Given the description of an element on the screen output the (x, y) to click on. 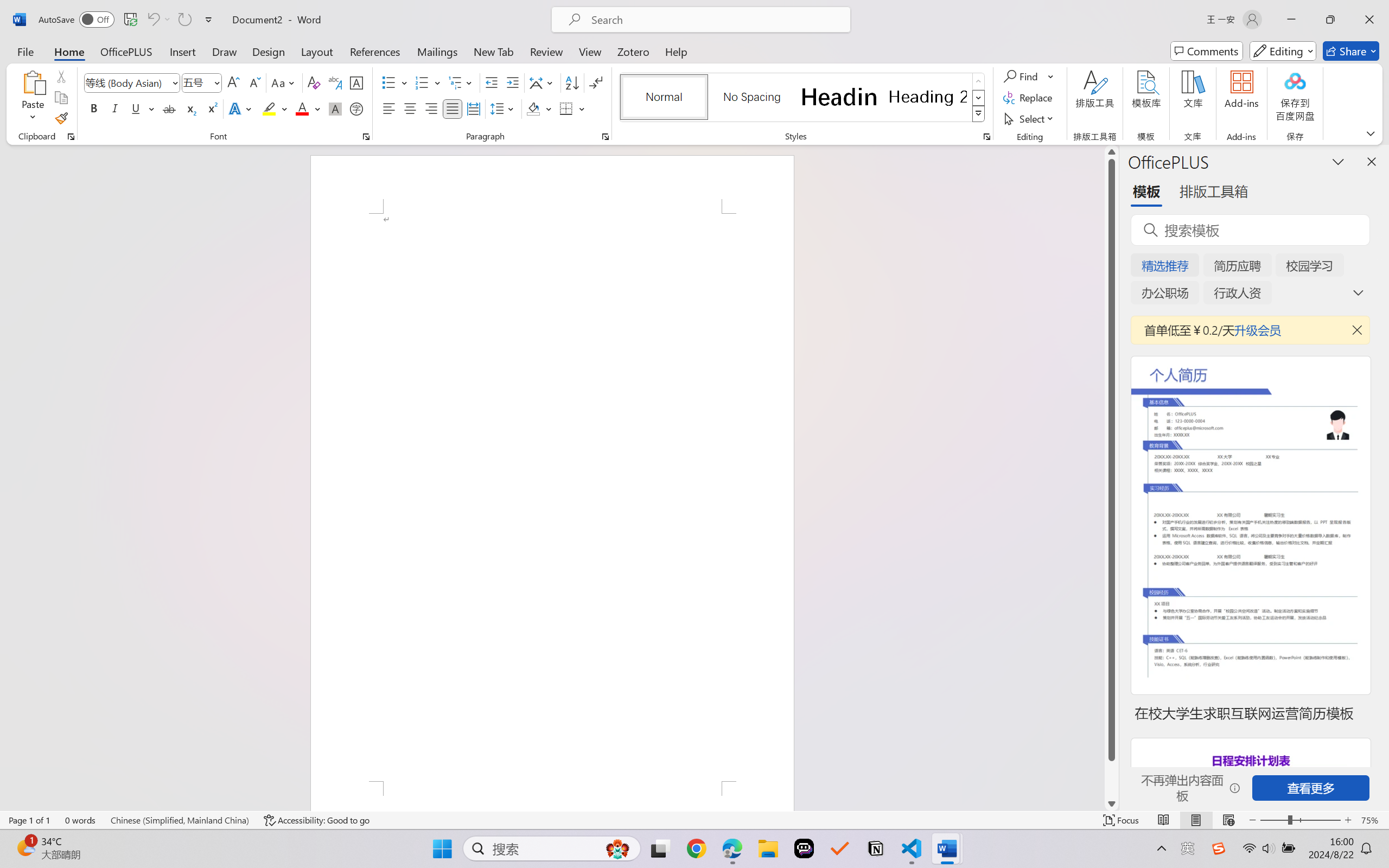
Class: Image (1218, 847)
More Options (1051, 75)
Language Chinese (Simplified, Mainland China) (179, 819)
Mode (1283, 50)
Office Clipboard... (70, 136)
Can't Undo (152, 19)
Print Layout (1196, 819)
Line and Paragraph Spacing (503, 108)
Superscript (210, 108)
Borders (571, 108)
Sort... (571, 82)
Enclose Characters... (356, 108)
